Given the description of an element on the screen output the (x, y) to click on. 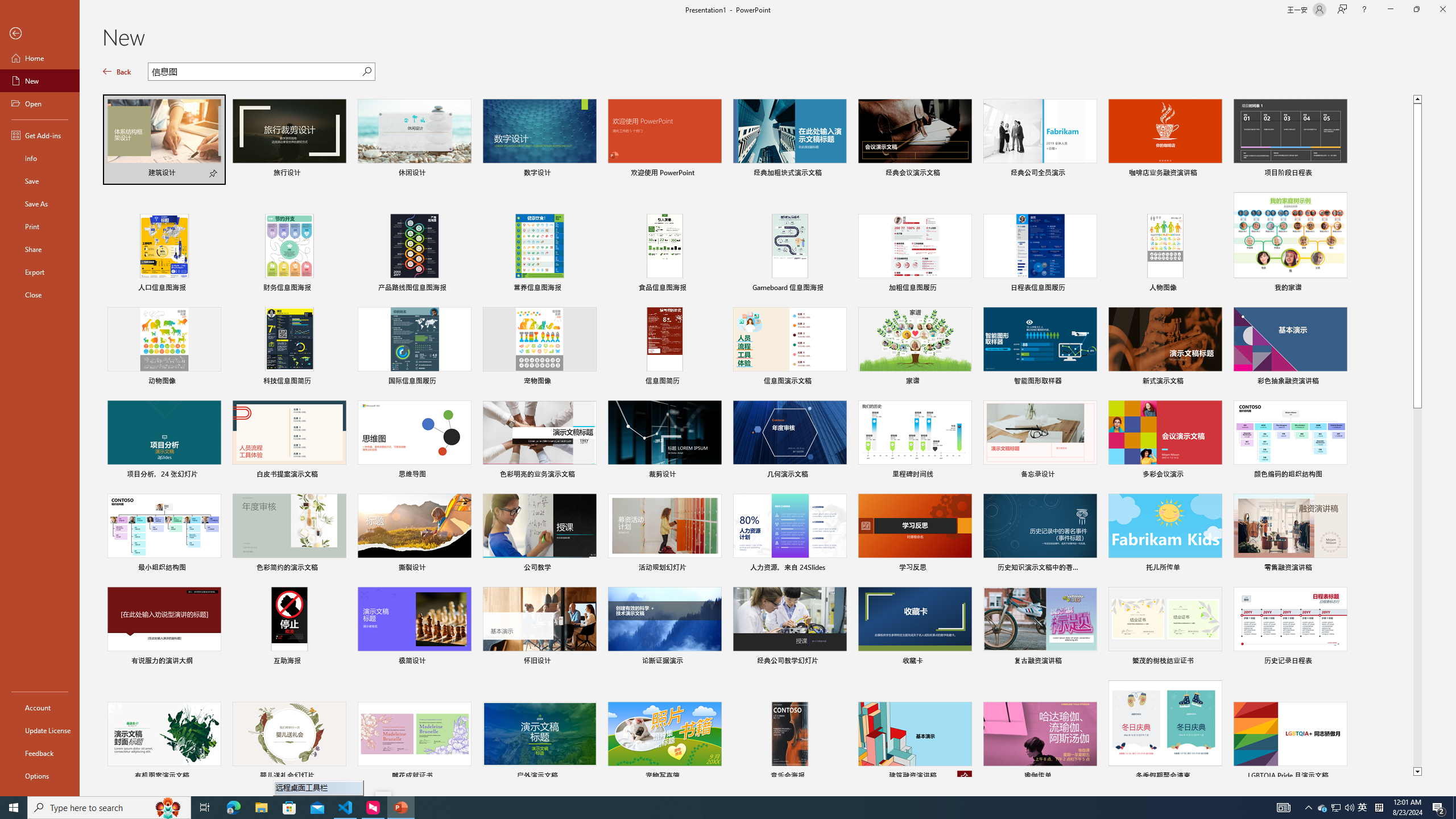
Update License (40, 730)
